Given the description of an element on the screen output the (x, y) to click on. 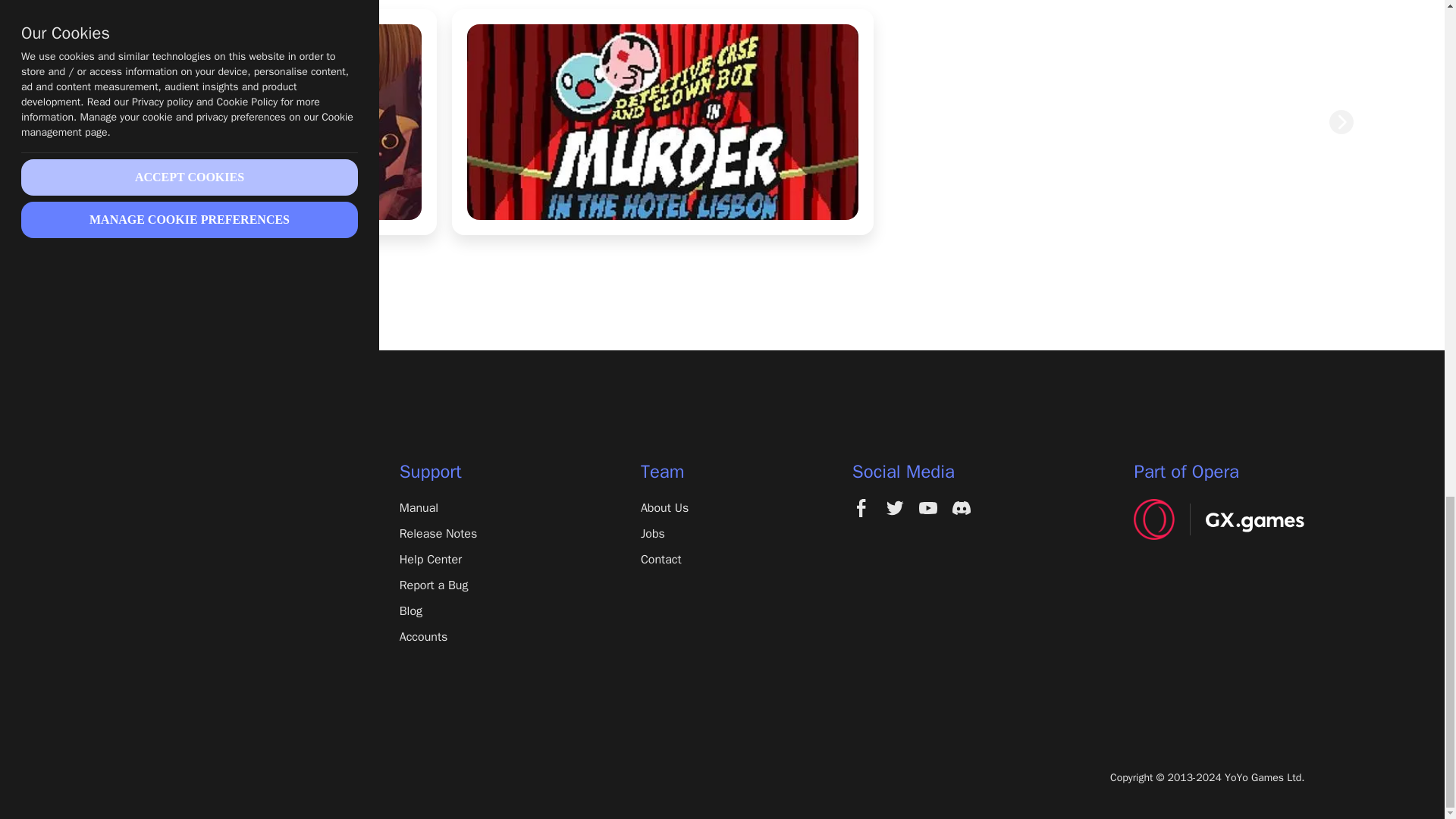
Merch (187, 688)
Education (187, 662)
Download (187, 507)
Roadmap (187, 637)
Marketplace (187, 585)
Features (187, 533)
Asset Bundles (187, 610)
Pricing (187, 559)
